Given the description of an element on the screen output the (x, y) to click on. 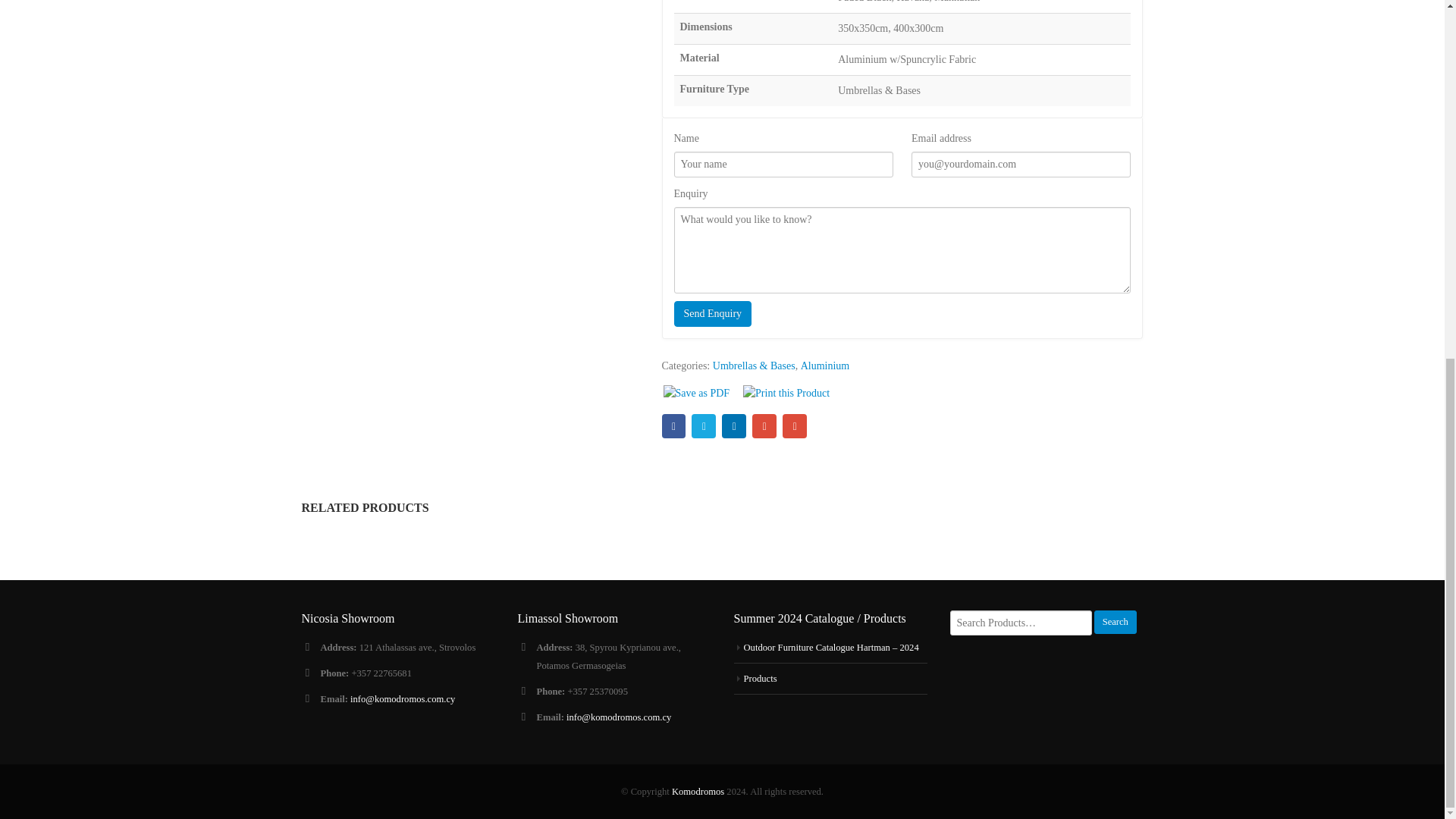
Facebook (673, 426)
Twitter (703, 426)
Email (794, 426)
Send Enquiry (711, 313)
Send Enquiry (711, 313)
Print this Product (786, 393)
LinkedIn (733, 426)
Facebook (673, 426)
Twitter (703, 426)
LinkedIn (733, 426)
Save as PDF (695, 393)
Aluminium (825, 365)
Email (794, 426)
Search (1115, 622)
